Given the description of an element on the screen output the (x, y) to click on. 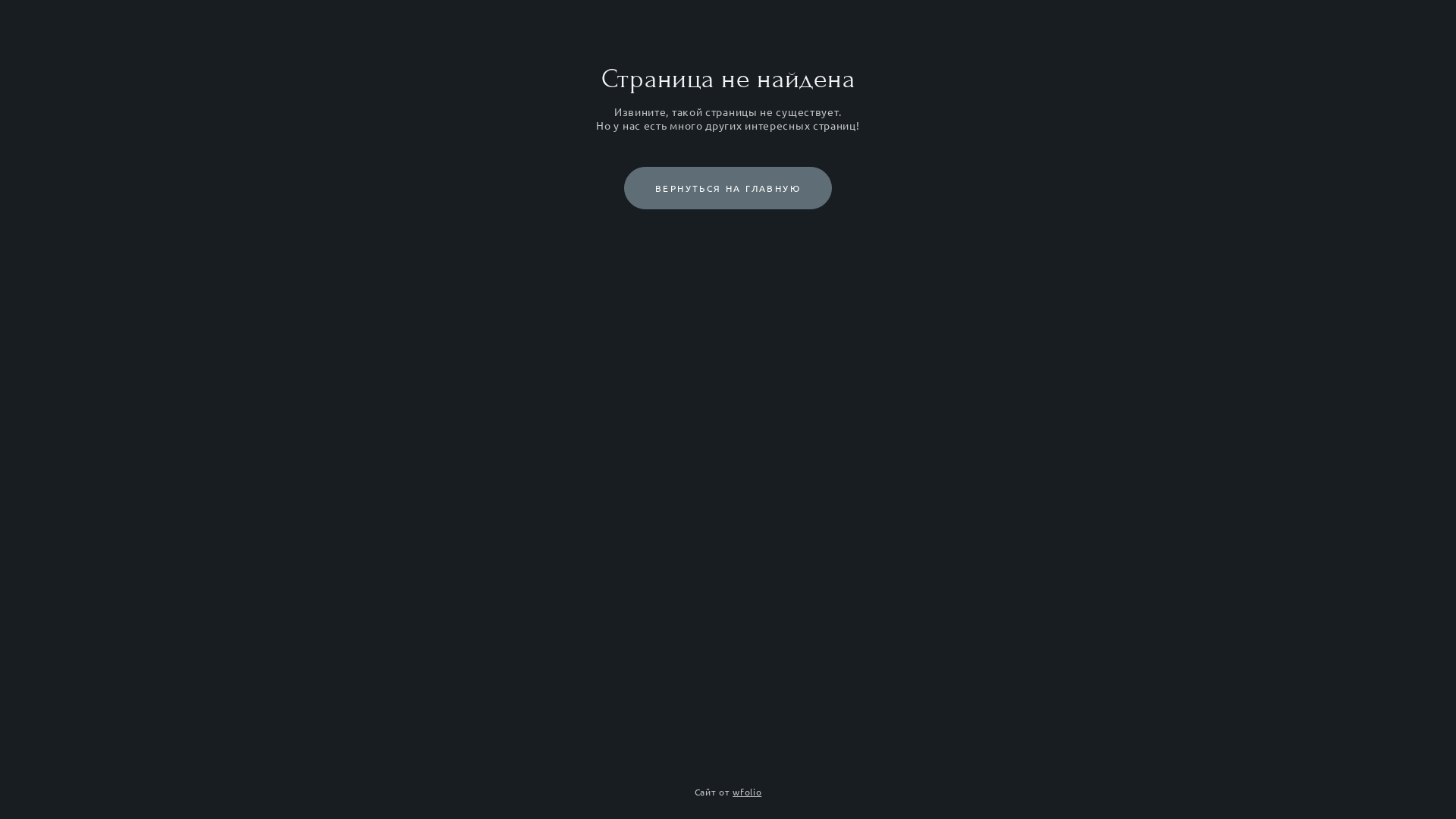
wfolio Element type: text (746, 791)
